Given the description of an element on the screen output the (x, y) to click on. 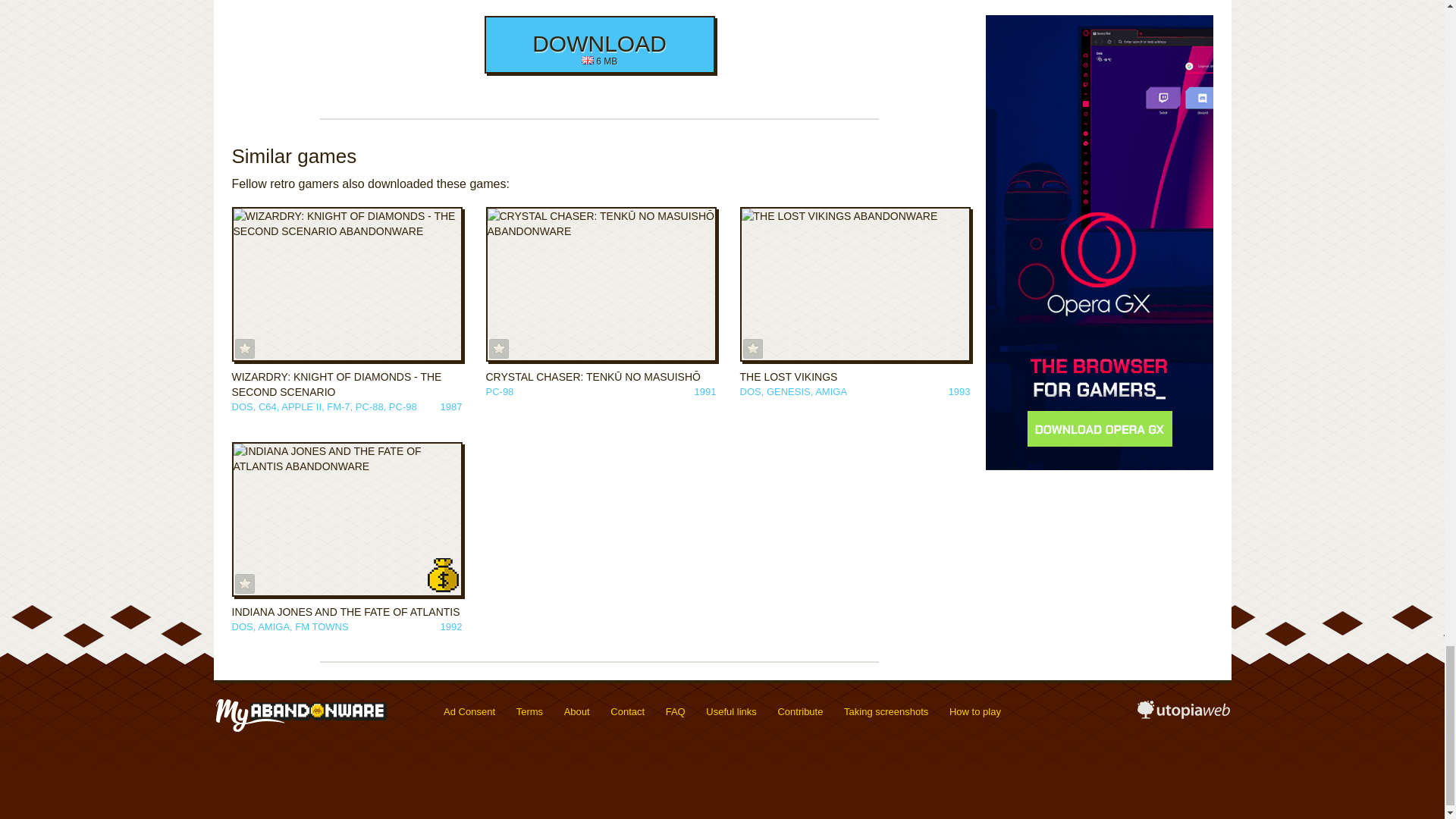
Add to favorites (751, 348)
Add to favorites (498, 348)
Visit utopiaweb website (1183, 714)
Add to favorites (243, 348)
Add to favorites (243, 583)
